Given the description of an element on the screen output the (x, y) to click on. 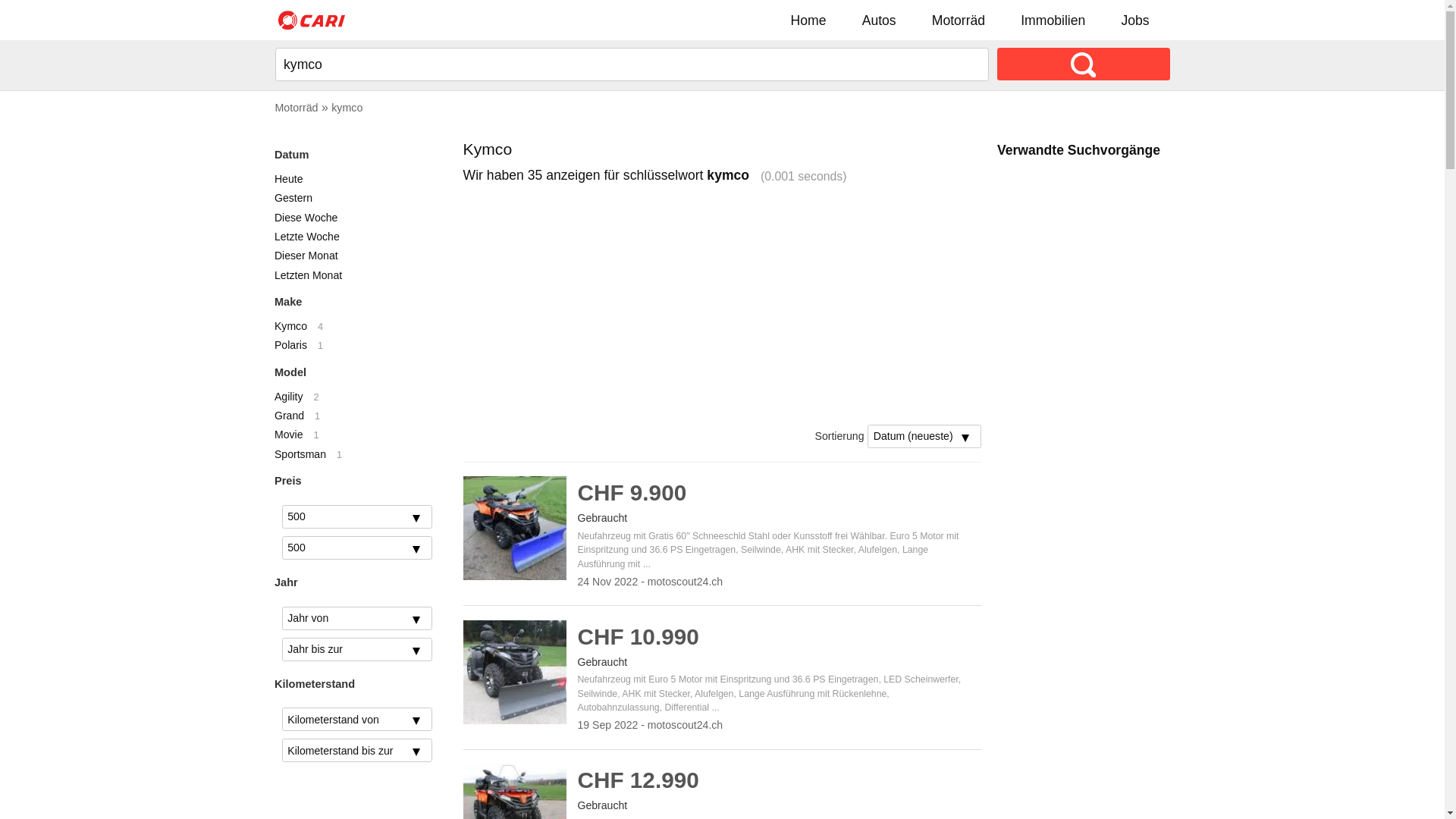
Autos Element type: text (879, 20)
Home Element type: text (808, 20)
kymco Element type: text (346, 107)
Advertisement Element type: hover (722, 304)
Jobs Element type: text (1135, 20)
Immobilien Element type: text (1052, 20)
Advertisement Element type: hover (1083, 408)
